Given the description of an element on the screen output the (x, y) to click on. 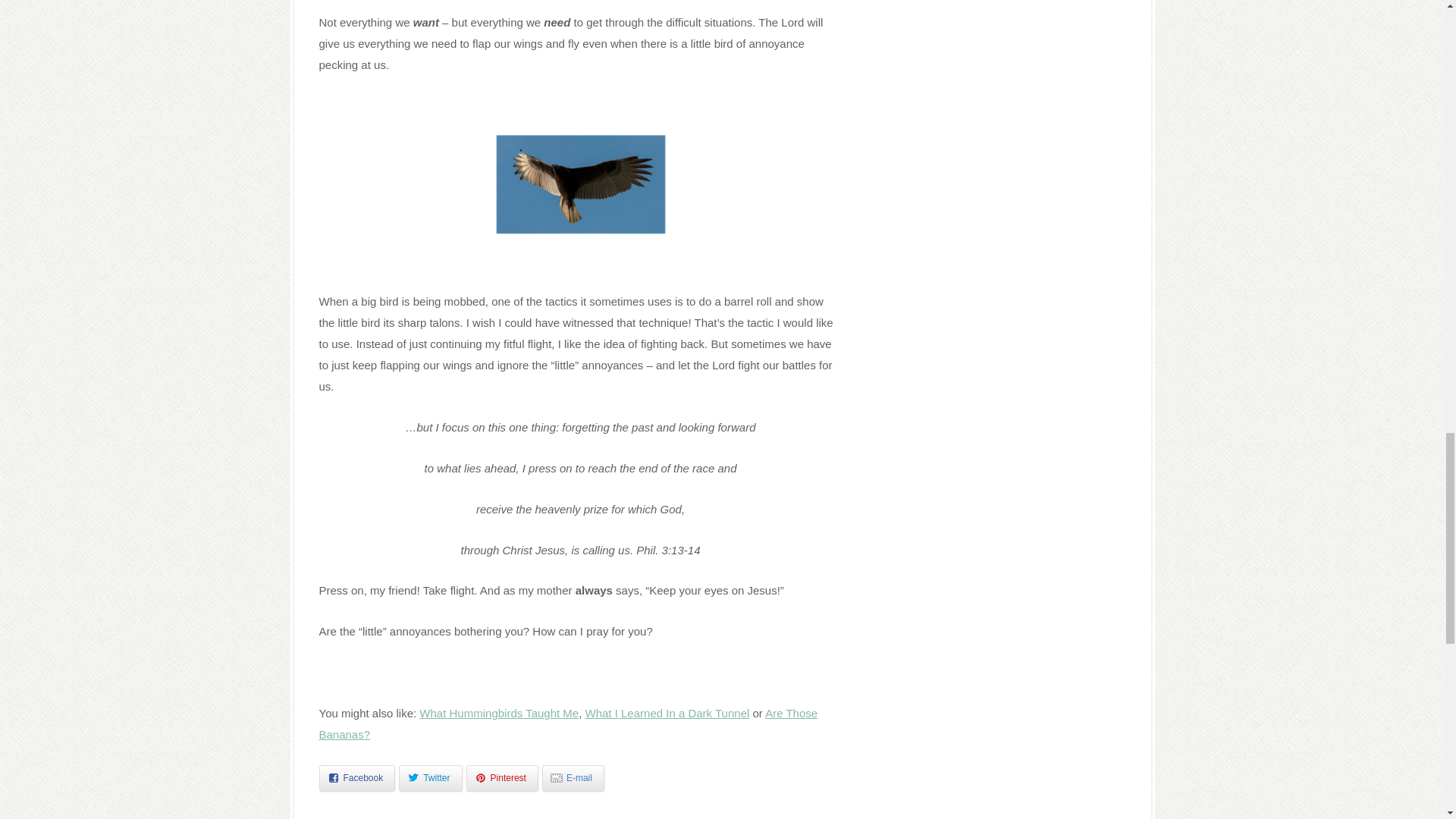
Pinterest (501, 777)
What Hummingbirds Taught Me (498, 712)
Share this article on Facebook (356, 777)
Share this article on Twitter (429, 777)
What I Learned In a Dark Tunnel (667, 712)
Facebook (356, 777)
Twitter (429, 777)
Share an image of this article on Pinterest (501, 777)
E-mail (572, 777)
Are Those Bananas? (567, 723)
